Given the description of an element on the screen output the (x, y) to click on. 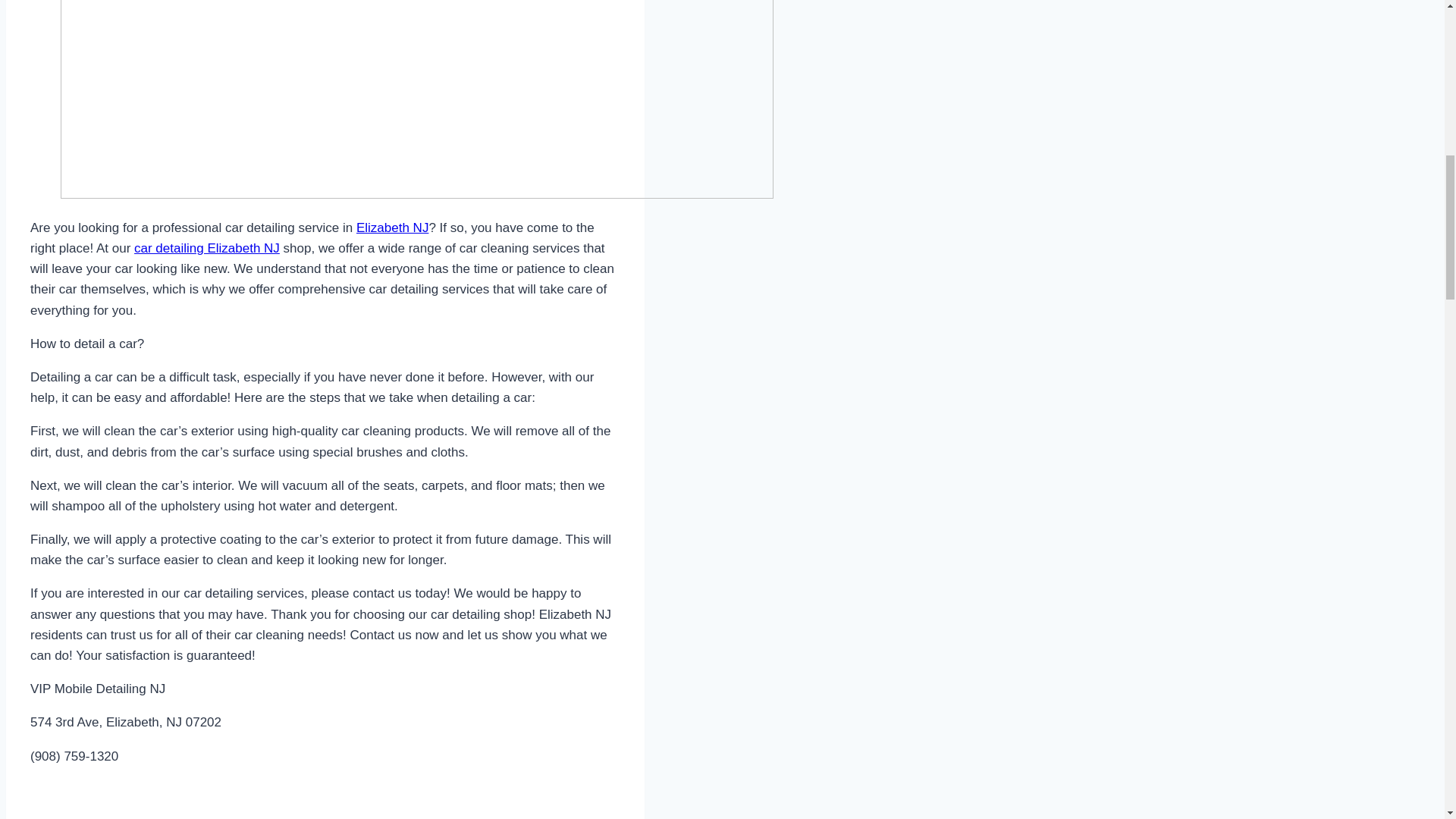
car detailing Elizabeth NJ (206, 247)
Elizabeth NJ (392, 227)
